Given the description of an element on the screen output the (x, y) to click on. 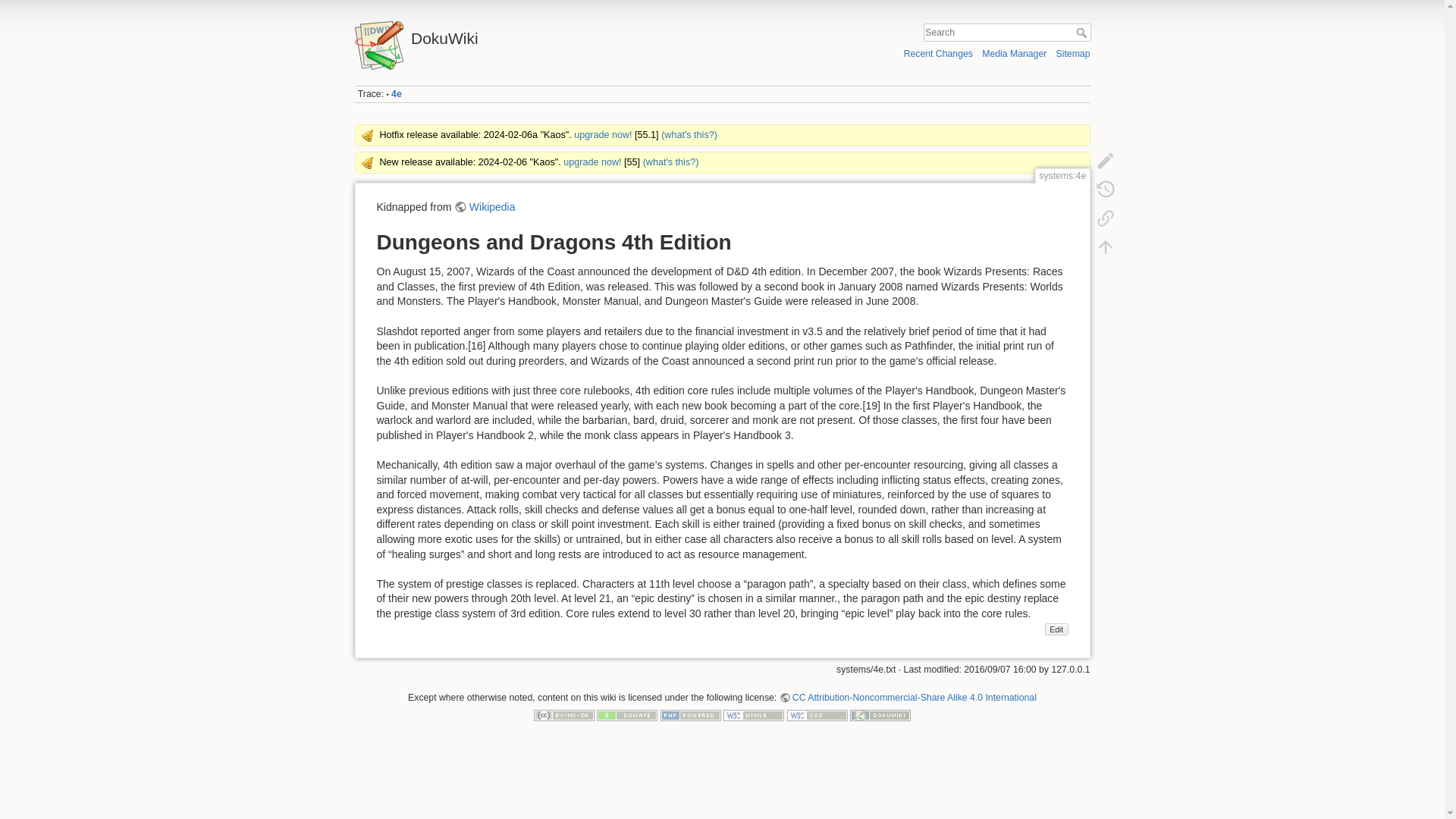
Search (1082, 32)
Backlinks (1104, 217)
Dungeons and Dragons 4th Edition (1056, 629)
Media Manager (1013, 53)
Edit (1056, 629)
Search (1082, 32)
CC Attribution-Noncommercial-Share Alike 4.0 International (907, 697)
Sitemap (1073, 53)
Wikipedia (484, 206)
DokuWiki (534, 34)
upgrade now! (592, 162)
Media Manager (1013, 53)
systems:4e (396, 93)
Recent Changes (938, 53)
4e (396, 93)
